Given the description of an element on the screen output the (x, y) to click on. 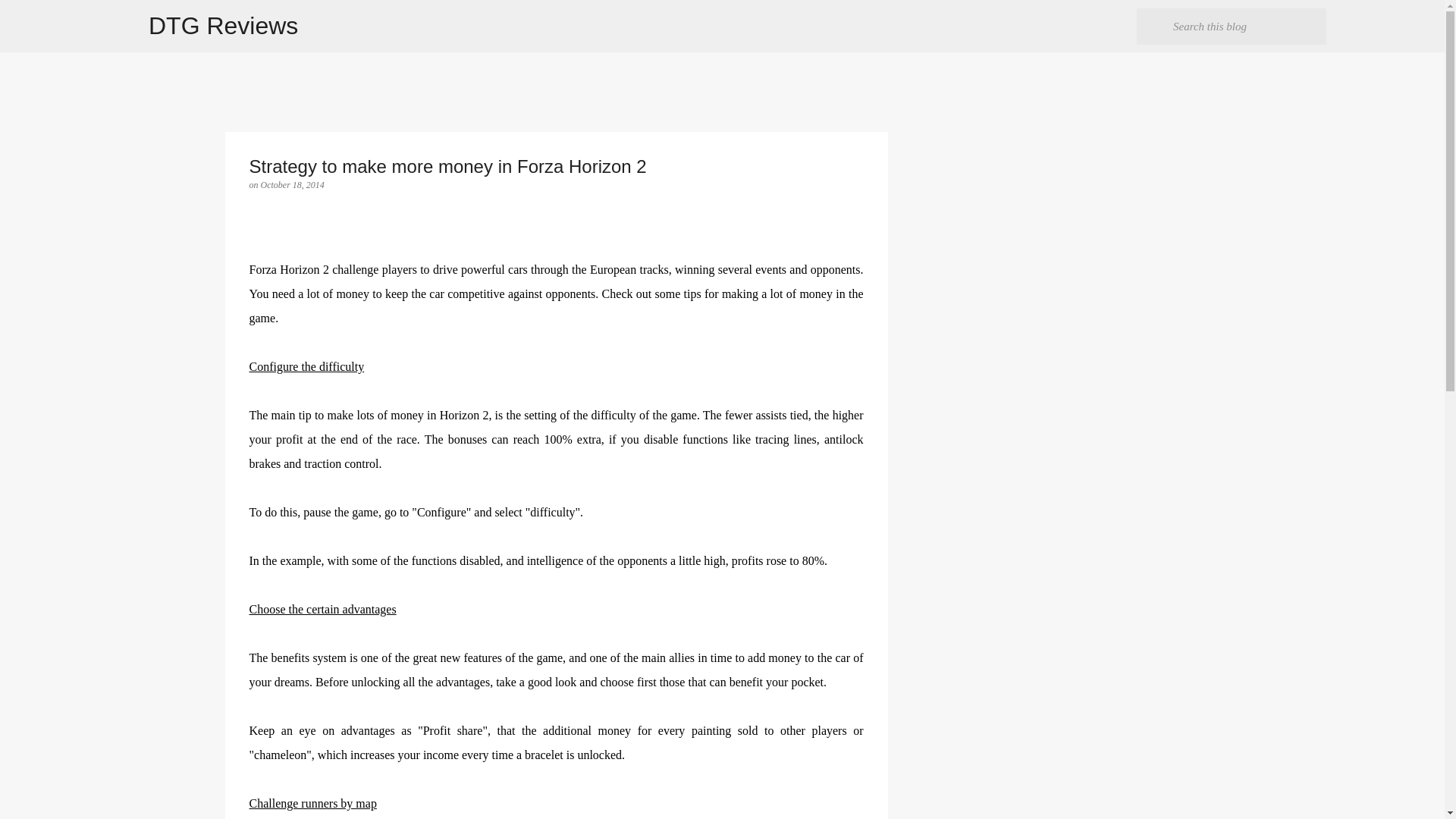
October 18, 2014 (292, 184)
DTG Reviews (223, 25)
permanent link (292, 184)
